Given the description of an element on the screen output the (x, y) to click on. 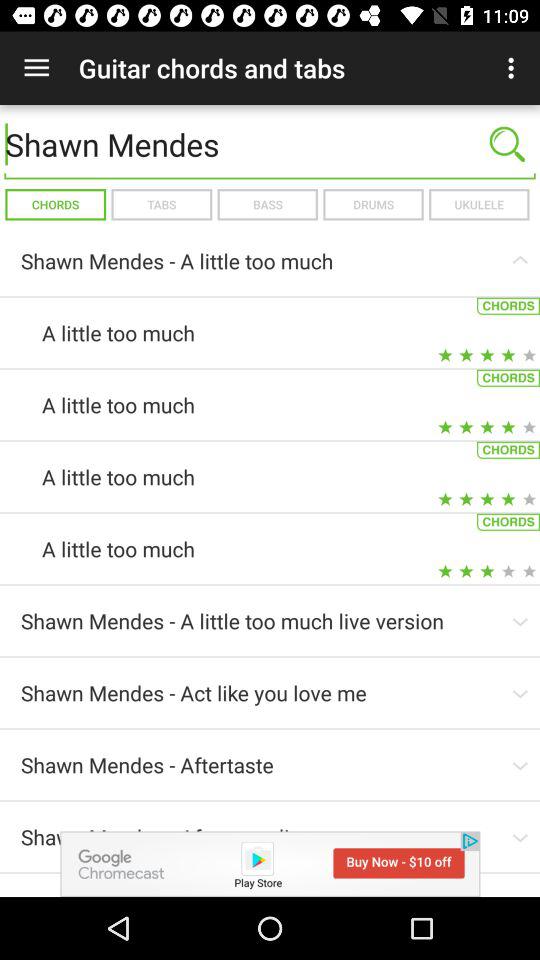
search (507, 144)
